Given the description of an element on the screen output the (x, y) to click on. 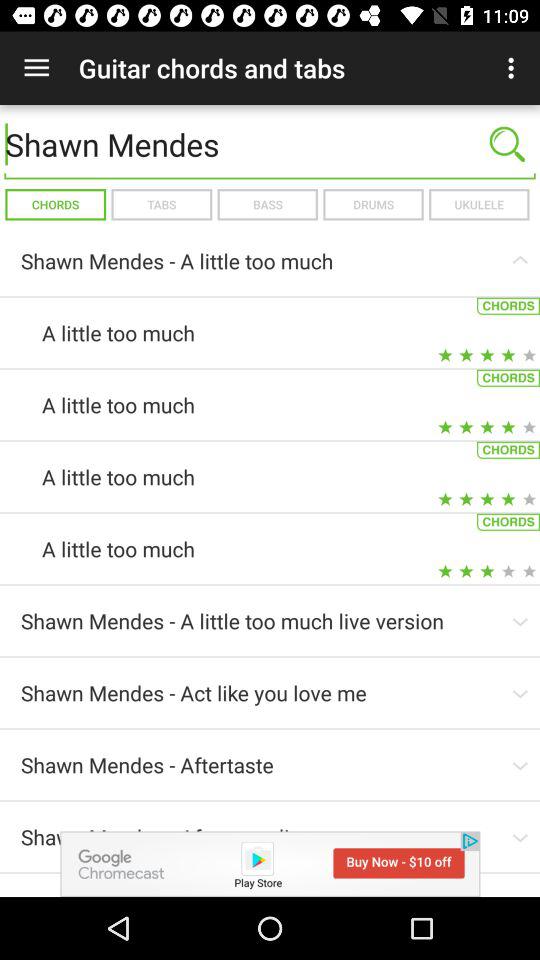
search (507, 144)
